Given the description of an element on the screen output the (x, y) to click on. 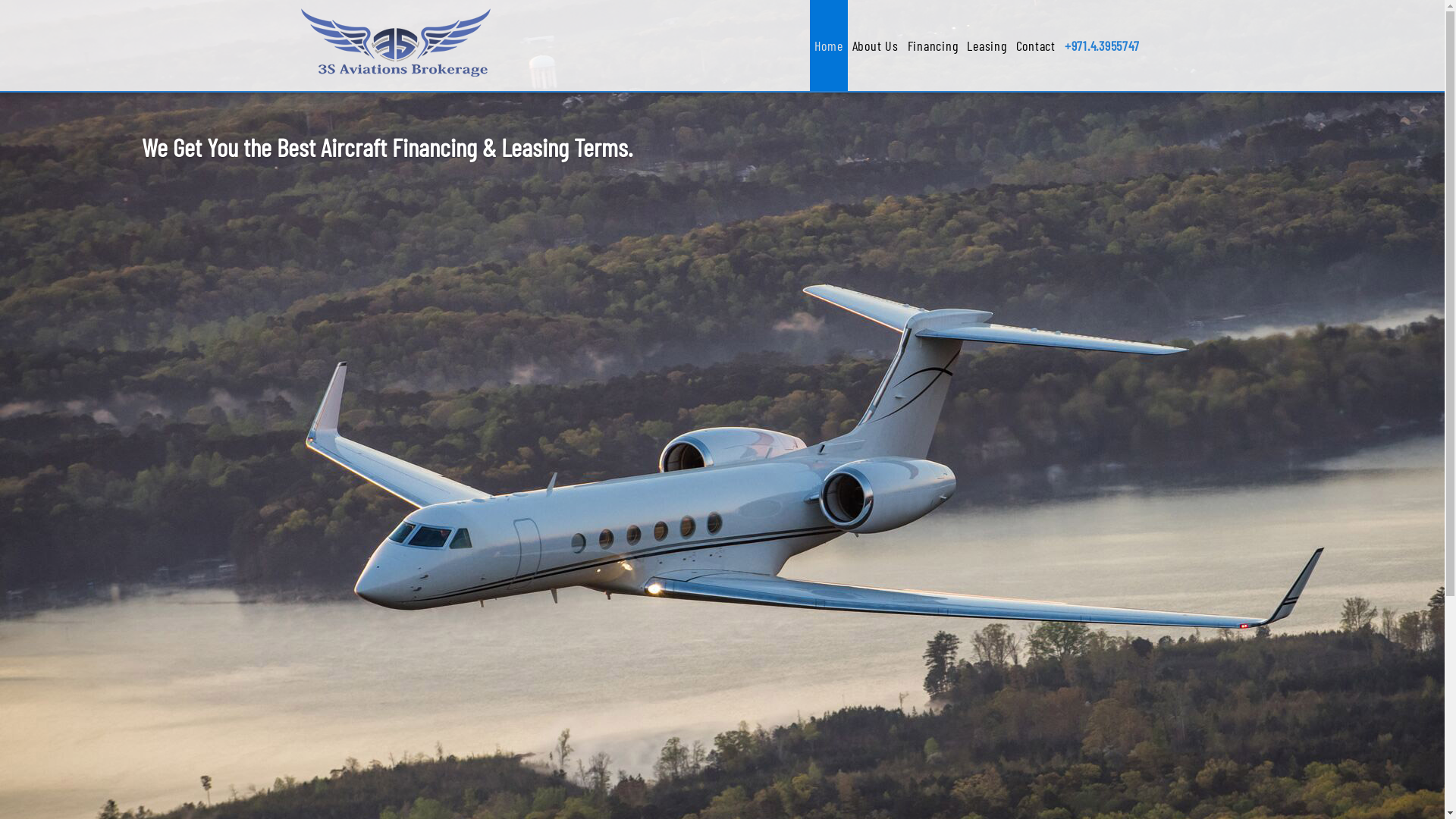
Home Element type: text (828, 45)
Contact Element type: text (1035, 45)
About Us Element type: text (875, 45)
Leasing Element type: text (986, 45)
Financing Element type: text (933, 45)
